Given the description of an element on the screen output the (x, y) to click on. 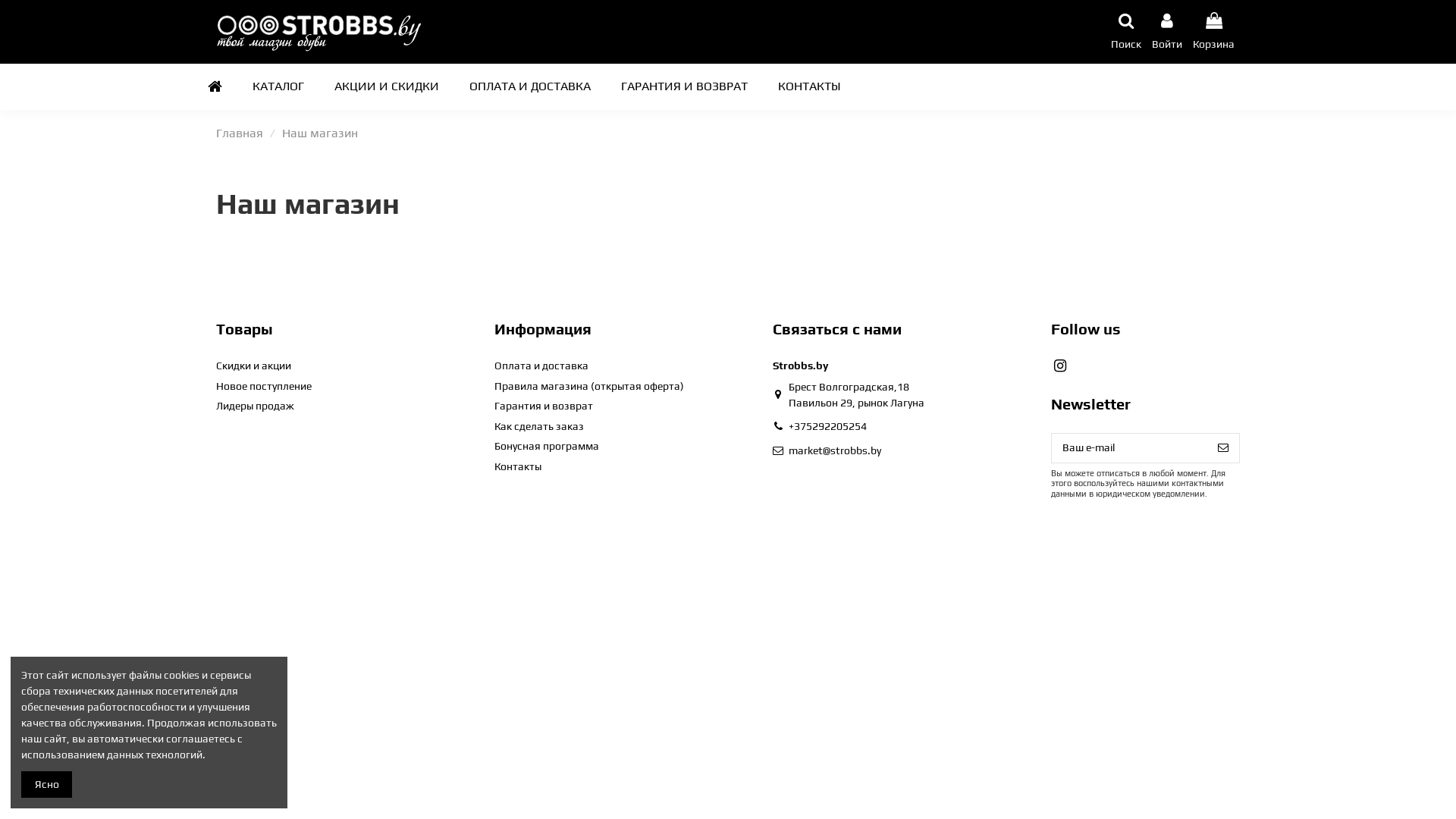
market@strobbs.by Element type: text (834, 450)
+375292205254 Element type: text (827, 426)
